Given the description of an element on the screen output the (x, y) to click on. 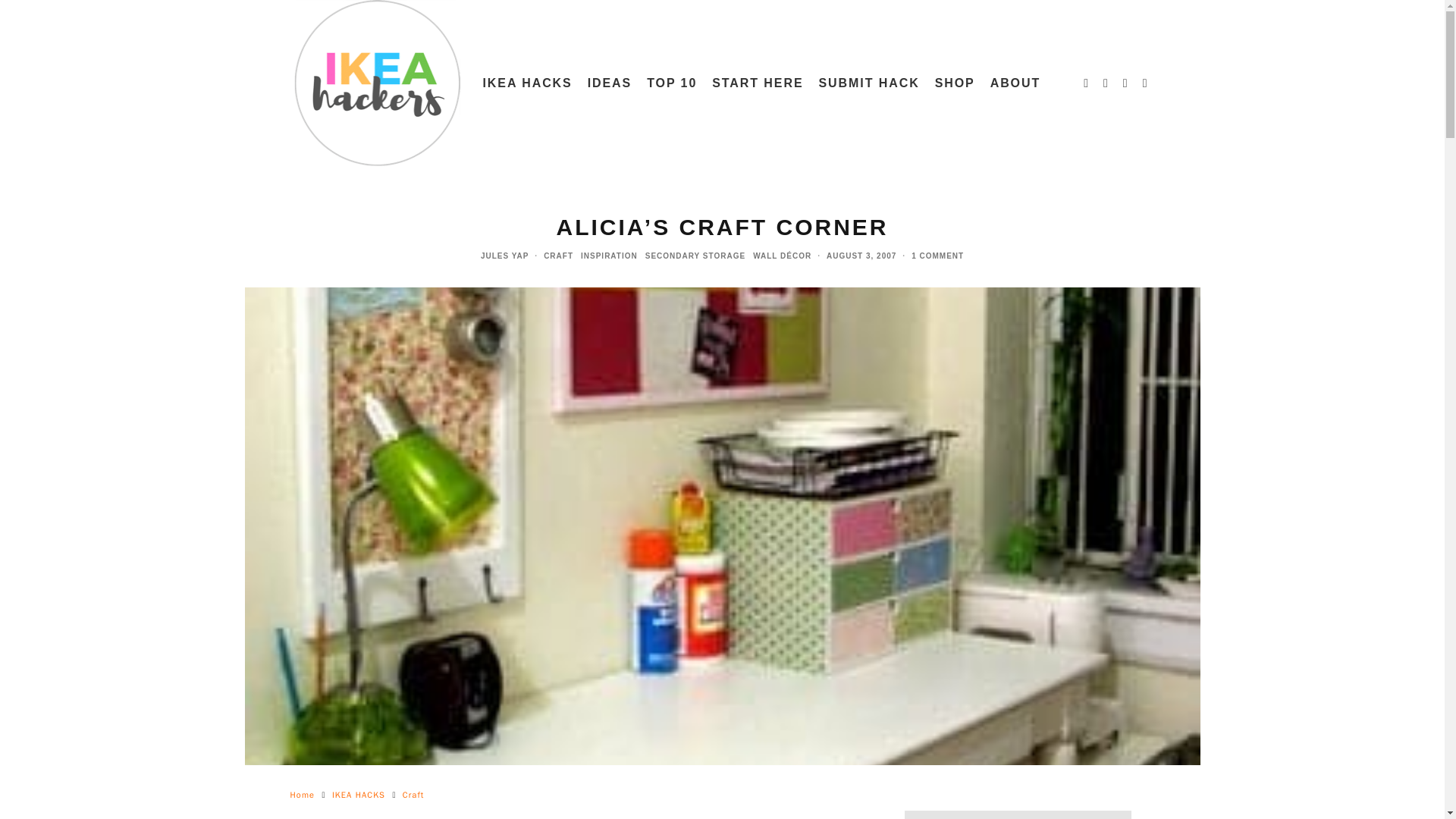
Hack of the Year (671, 83)
ABOUT (1015, 83)
SHOP (954, 83)
IKEA HACKS (526, 83)
IKEA Hacks by Categories (526, 83)
1 COMMENT (937, 255)
Home (301, 794)
Craft (414, 794)
IDEAS (609, 83)
